Given the description of an element on the screen output the (x, y) to click on. 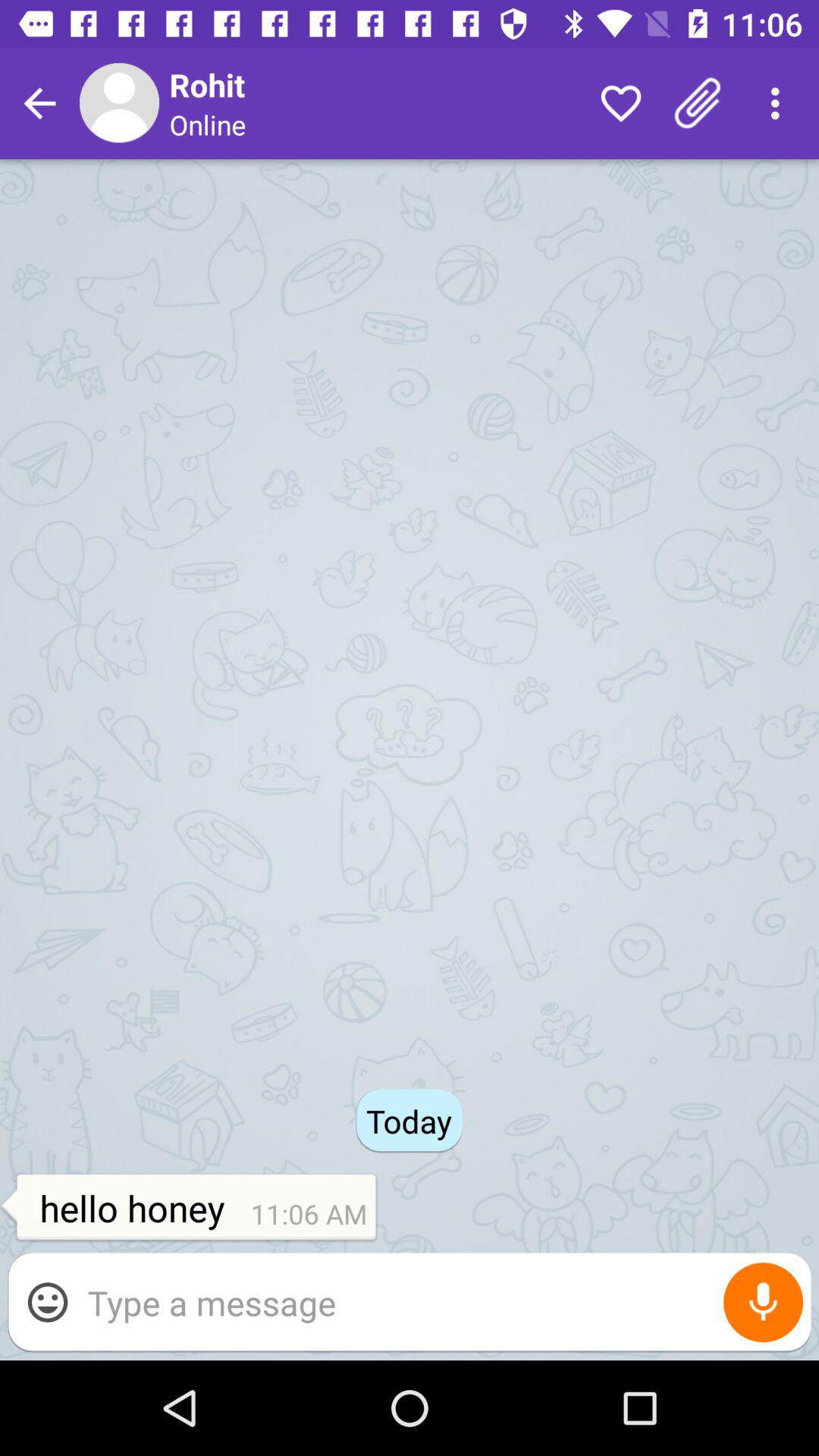
emoji folder (47, 1302)
